Given the description of an element on the screen output the (x, y) to click on. 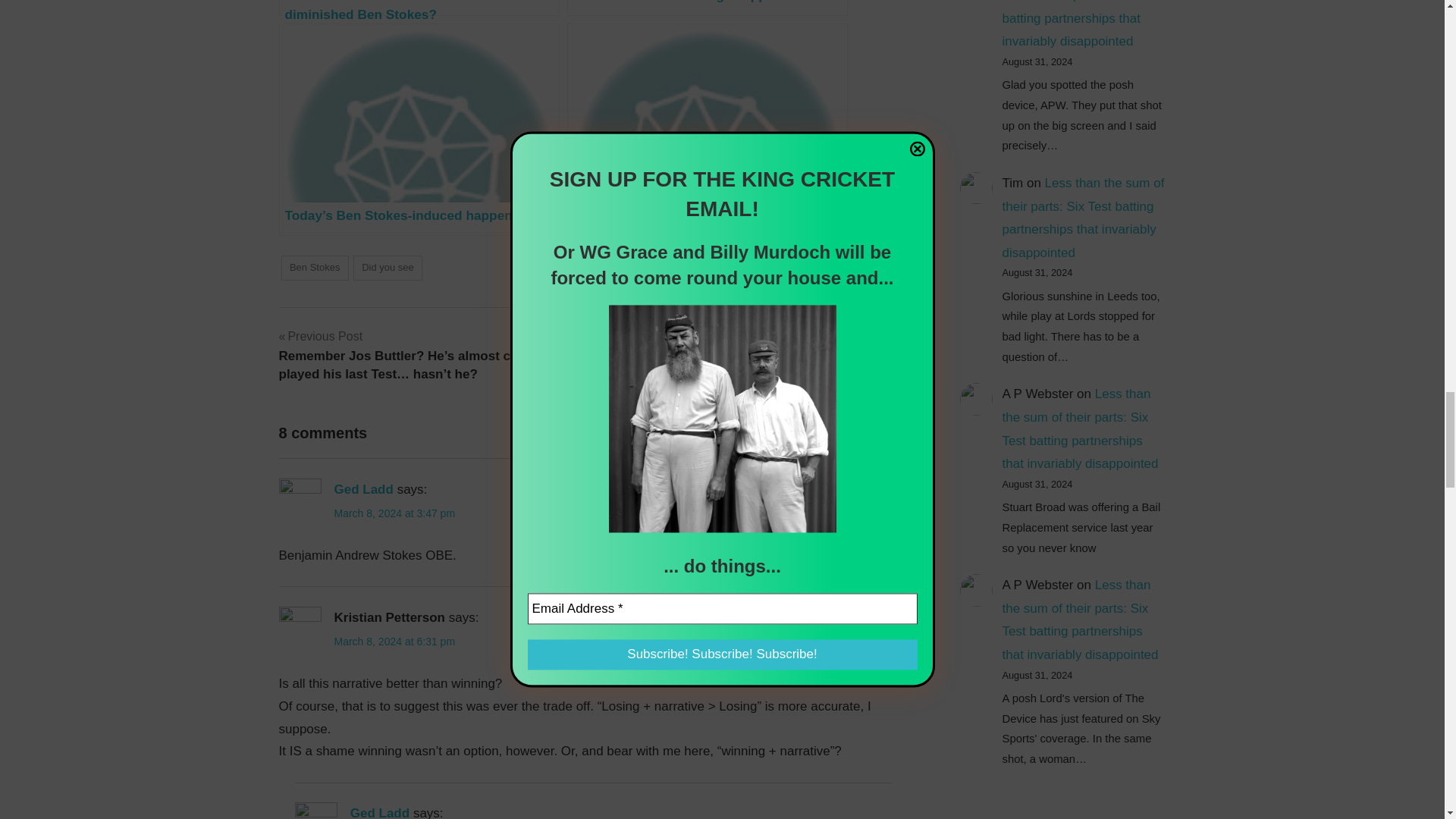
Ben Stokes (314, 267)
Did you see (387, 267)
Ben Stokes makes things happen (707, 7)
Ben Stokes makes things happen (707, 7)
Is a Ben Stokes with a rueful smile a diminished Ben Stokes? (419, 7)
Is a Ben Stokes with a rueful smile a diminished Ben Stokes? (419, 7)
